Given the description of an element on the screen output the (x, y) to click on. 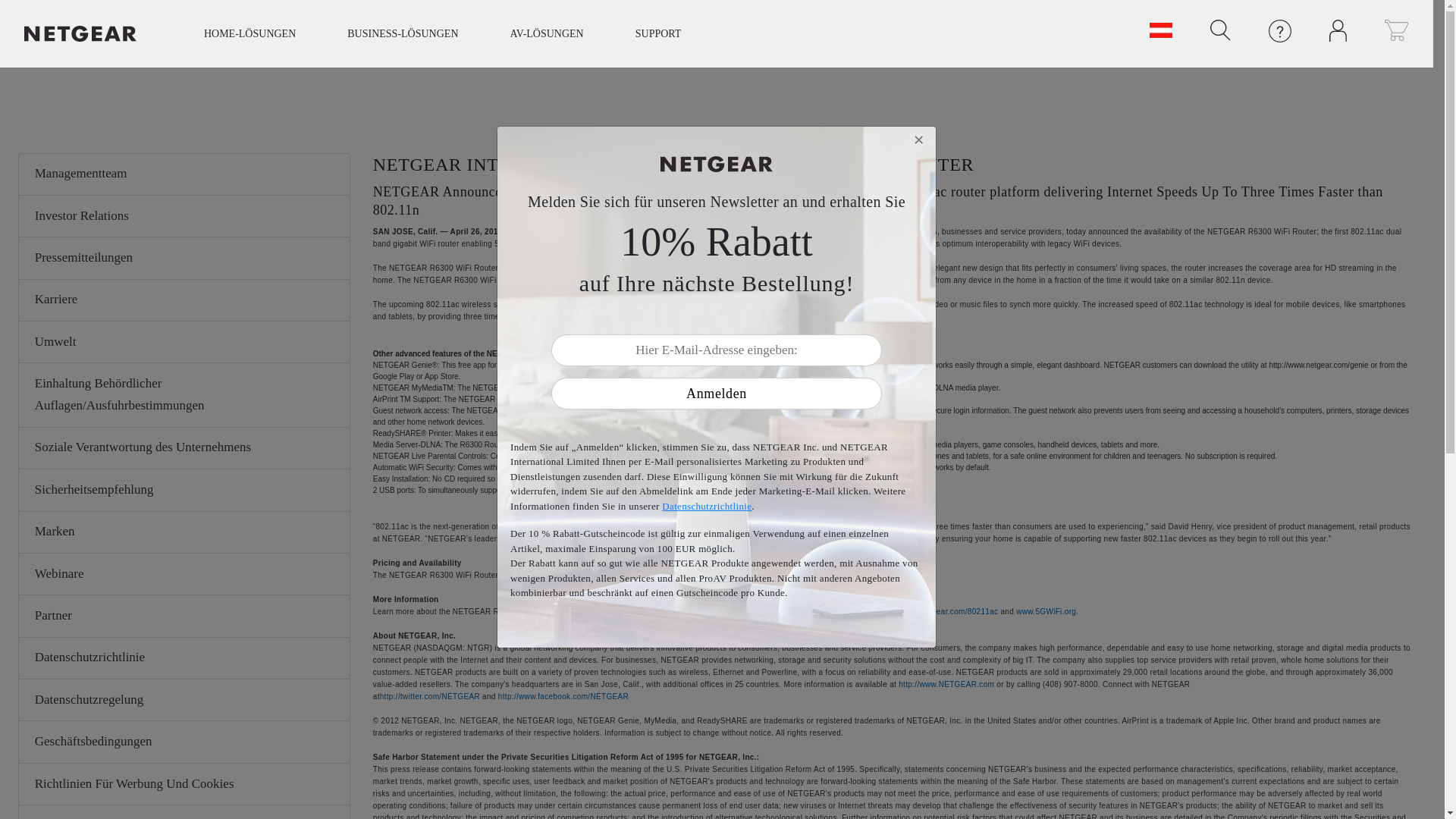
Anmelden (715, 393)
